Given the description of an element on the screen output the (x, y) to click on. 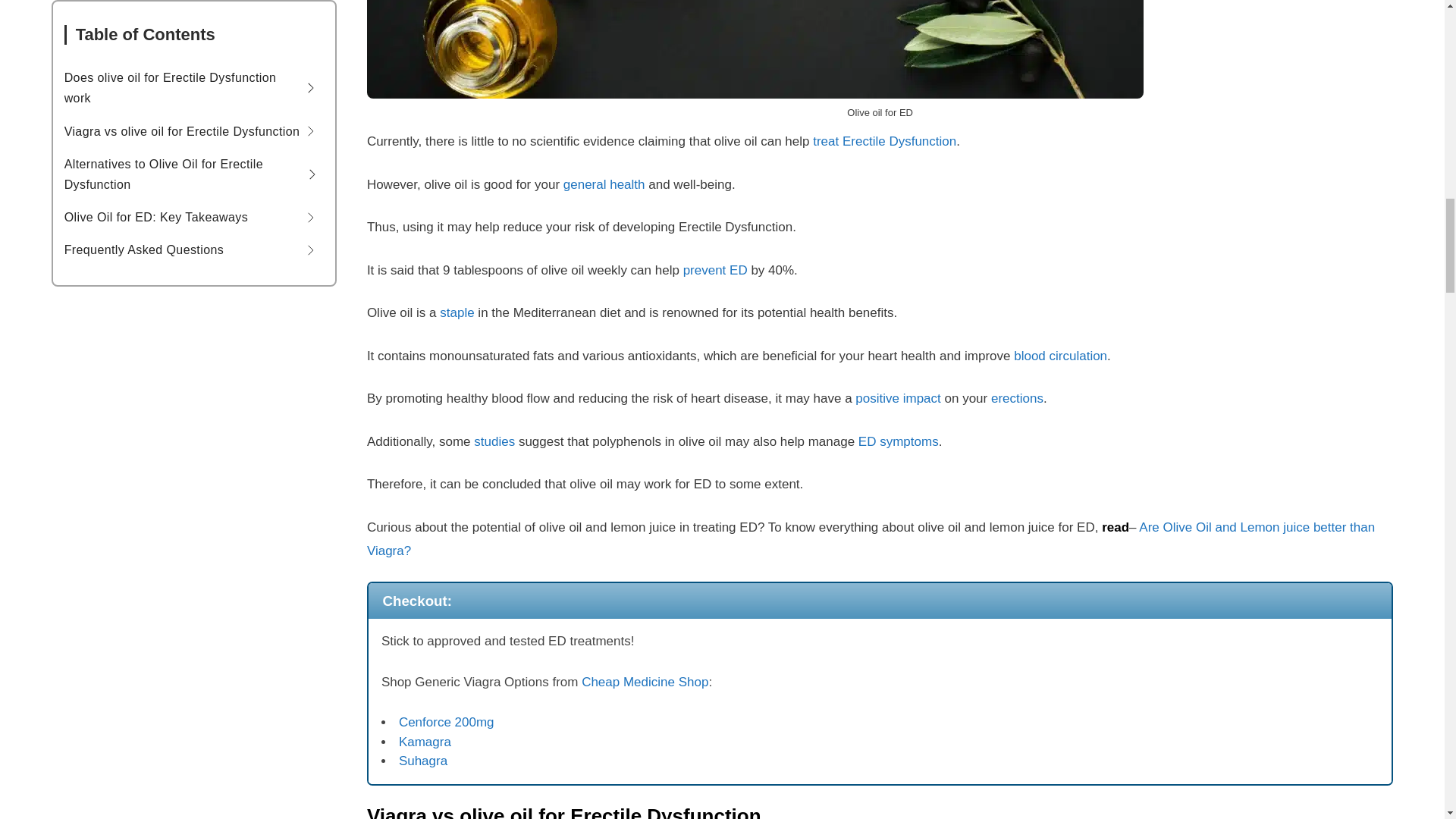
Suhagra (422, 760)
Cenforce 200mg (446, 721)
Kamagra (424, 741)
Cheap Medicine Shop (643, 681)
